Given the description of an element on the screen output the (x, y) to click on. 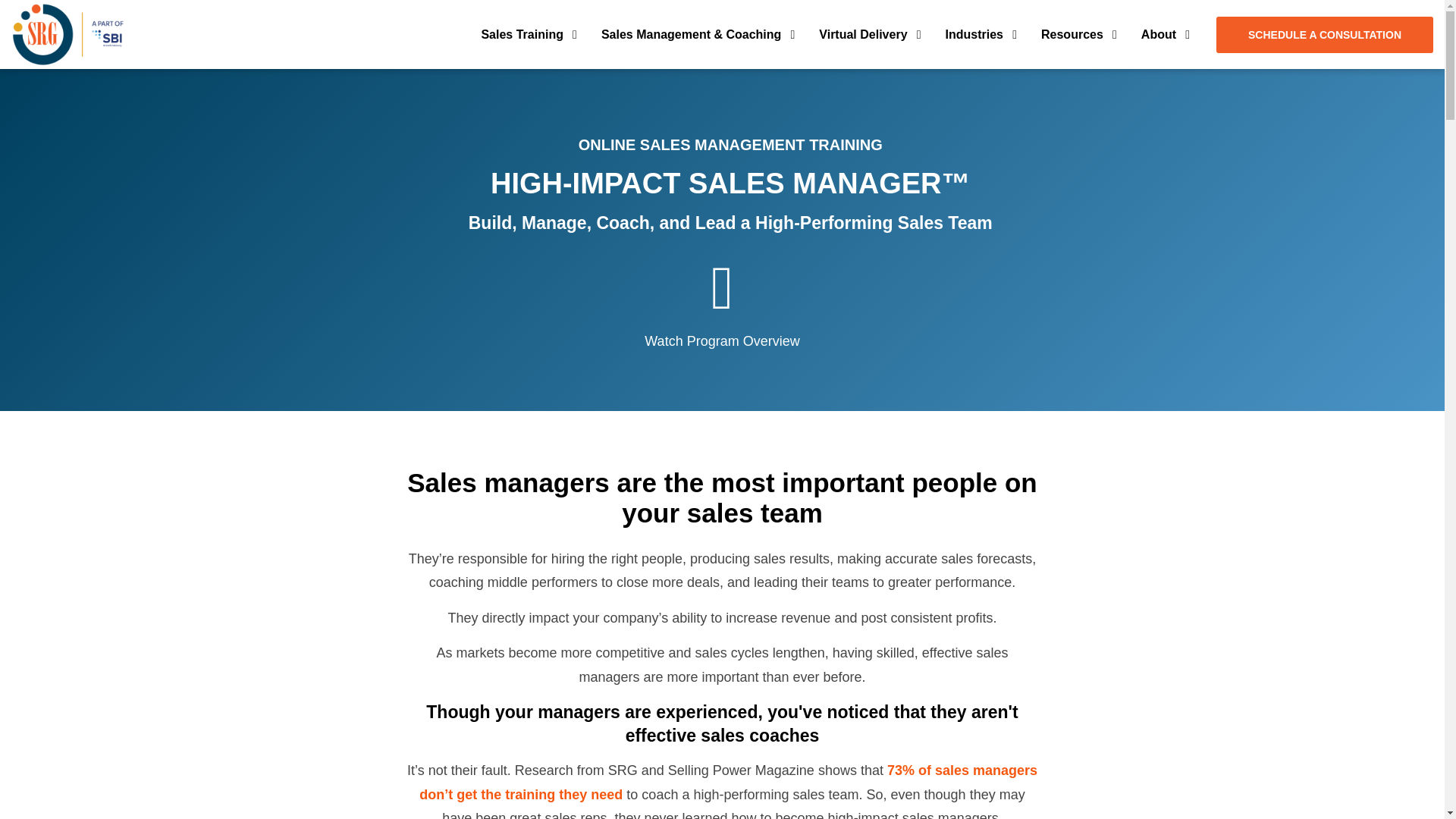
Resources (1076, 34)
Industries (978, 34)
Sales Training (525, 34)
Virtual Delivery (866, 34)
